Given the description of an element on the screen output the (x, y) to click on. 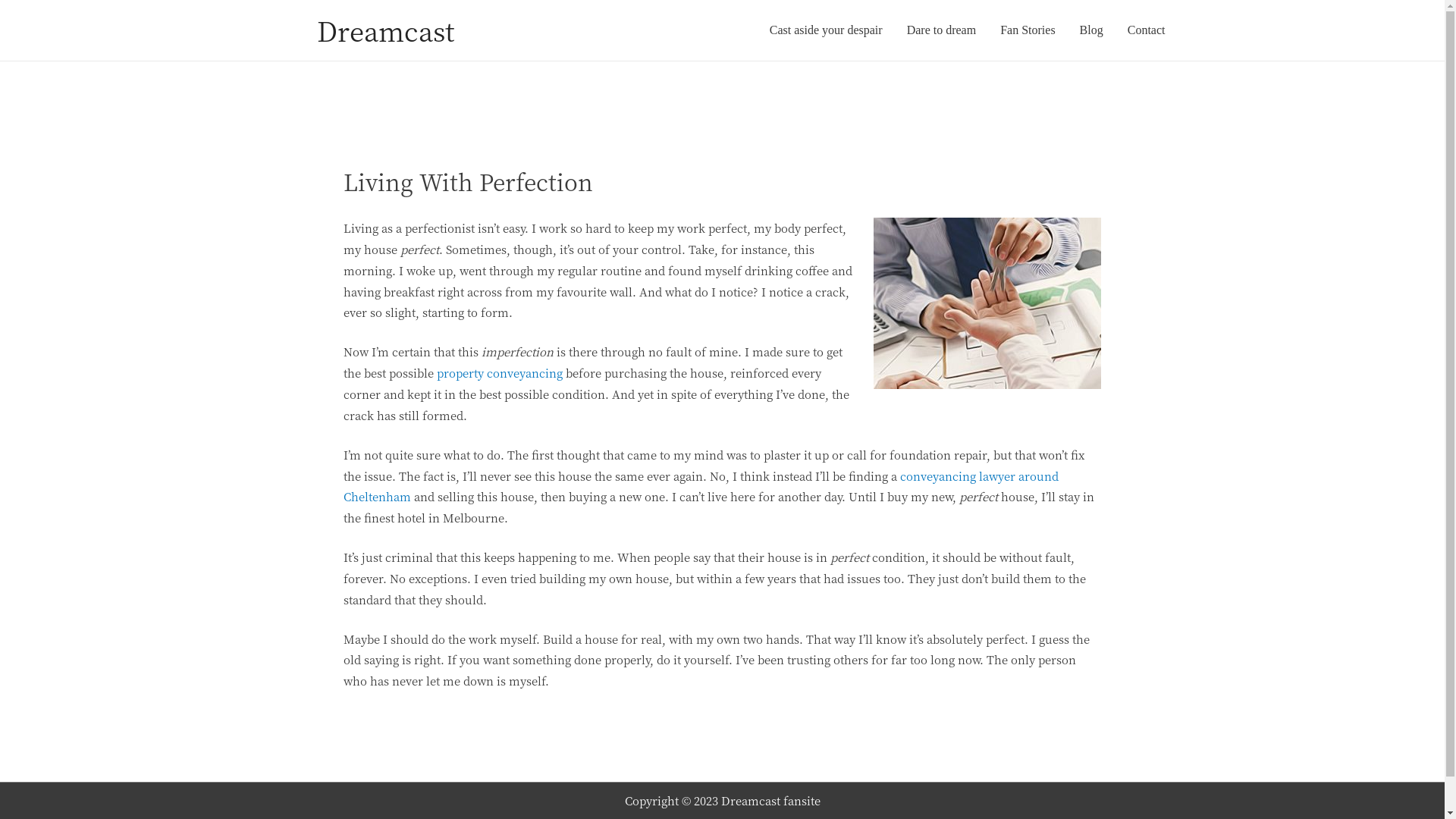
Cast aside your despair Element type: text (825, 30)
Dreamcast Element type: text (385, 30)
Contact Element type: text (1146, 30)
conveyancing lawyer around Cheltenham Element type: text (700, 486)
Dare to dream Element type: text (941, 30)
Blog Element type: text (1091, 30)
property conveyancing Element type: text (499, 372)
Fan Stories Element type: text (1027, 30)
